Given the description of an element on the screen output the (x, y) to click on. 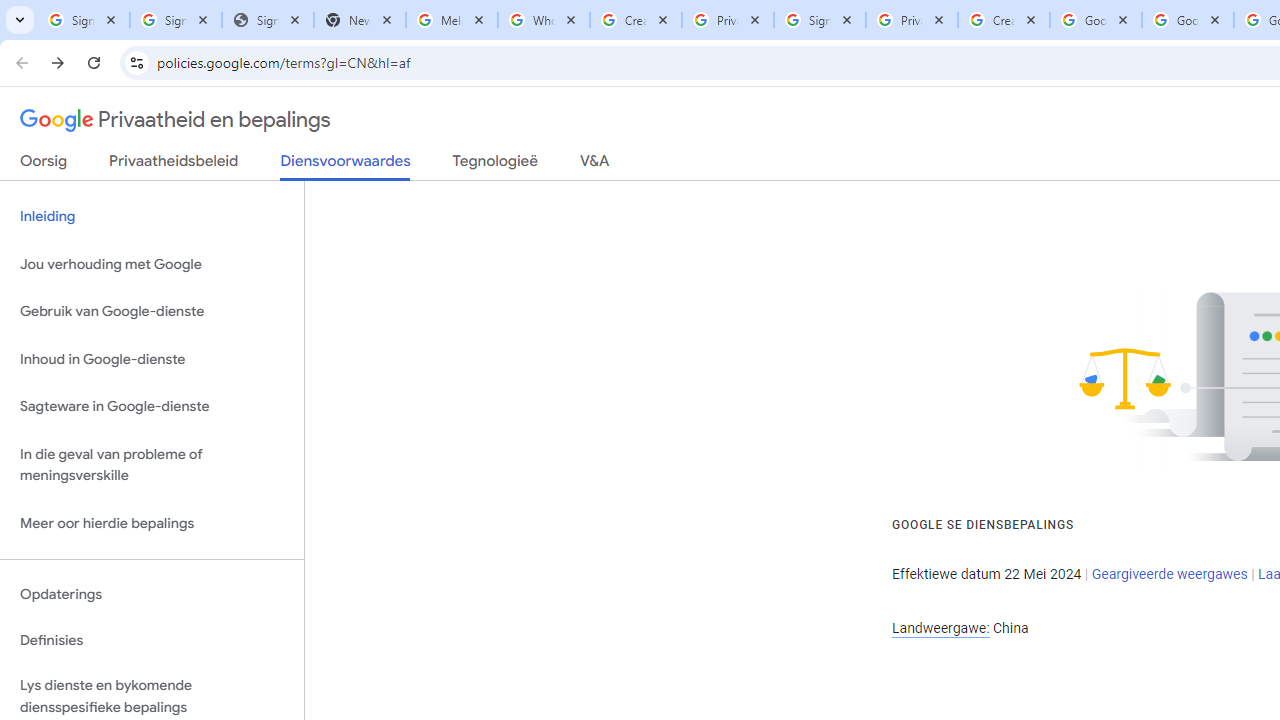
Meer oor hierdie bepalings (152, 522)
Privaatheid en bepalings (175, 120)
New Tab (359, 20)
Inhoud in Google-dienste (152, 358)
Jou verhouding met Google (152, 263)
Oorsig (43, 165)
Sign in - Google Accounts (83, 20)
Create your Google Account (636, 20)
Sign in - Google Accounts (820, 20)
Definisies (152, 640)
Diensvoorwaardes (345, 166)
